Given the description of an element on the screen output the (x, y) to click on. 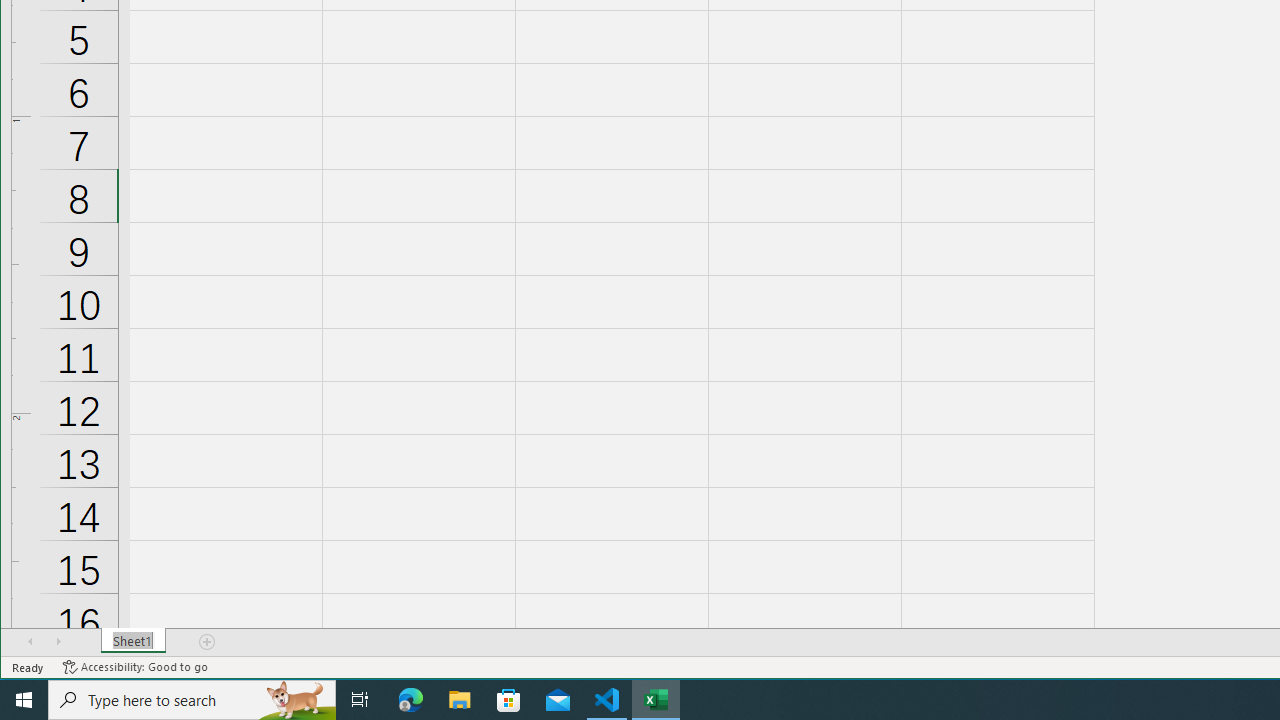
Excel - 1 running window (656, 699)
